Given the description of an element on the screen output the (x, y) to click on. 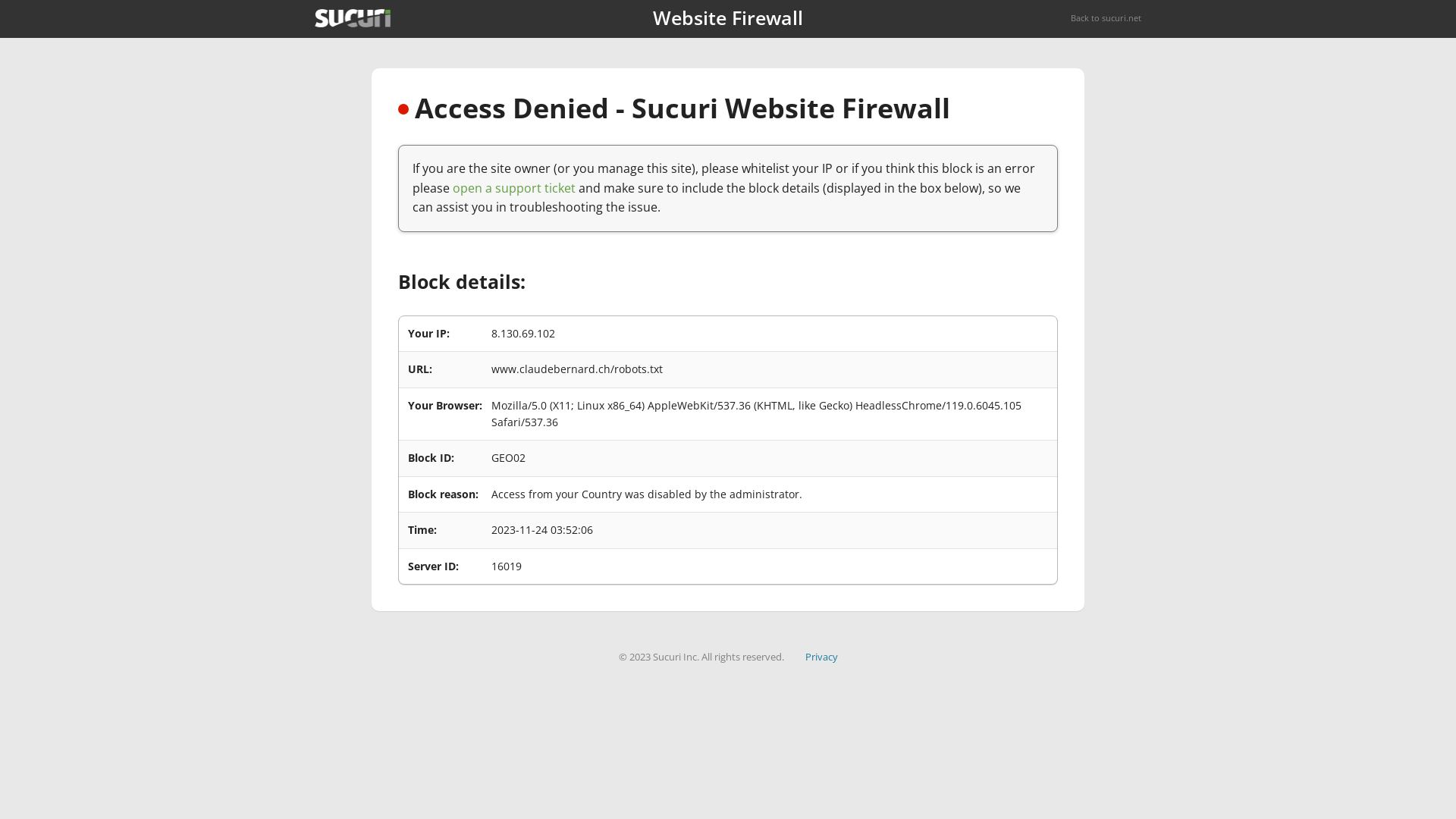
Back to sucuri.net Element type: text (1105, 18)
open a support ticket Element type: text (513, 187)
Privacy Element type: text (821, 656)
